Given the description of an element on the screen output the (x, y) to click on. 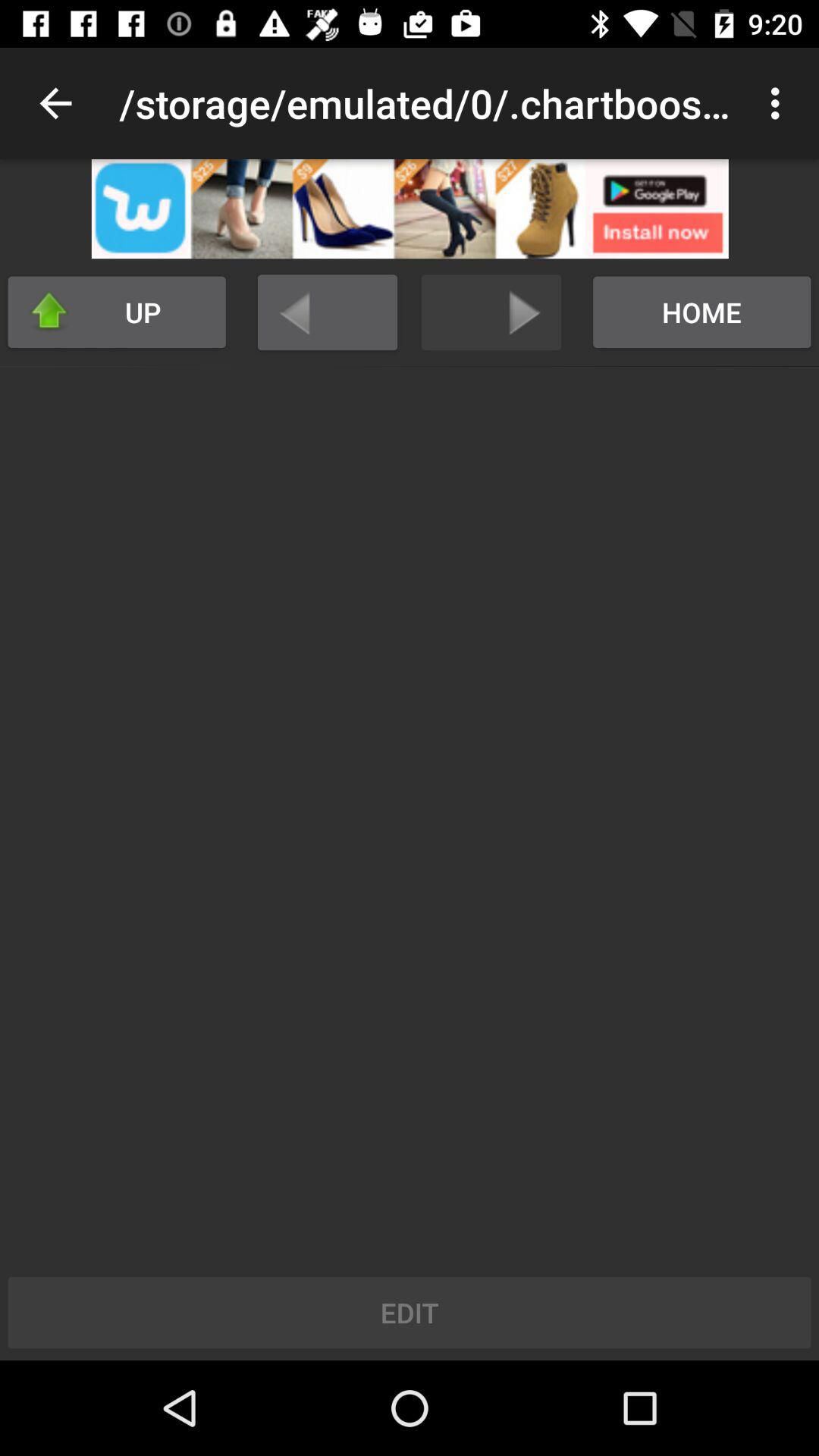
back button (327, 312)
